Given the description of an element on the screen output the (x, y) to click on. 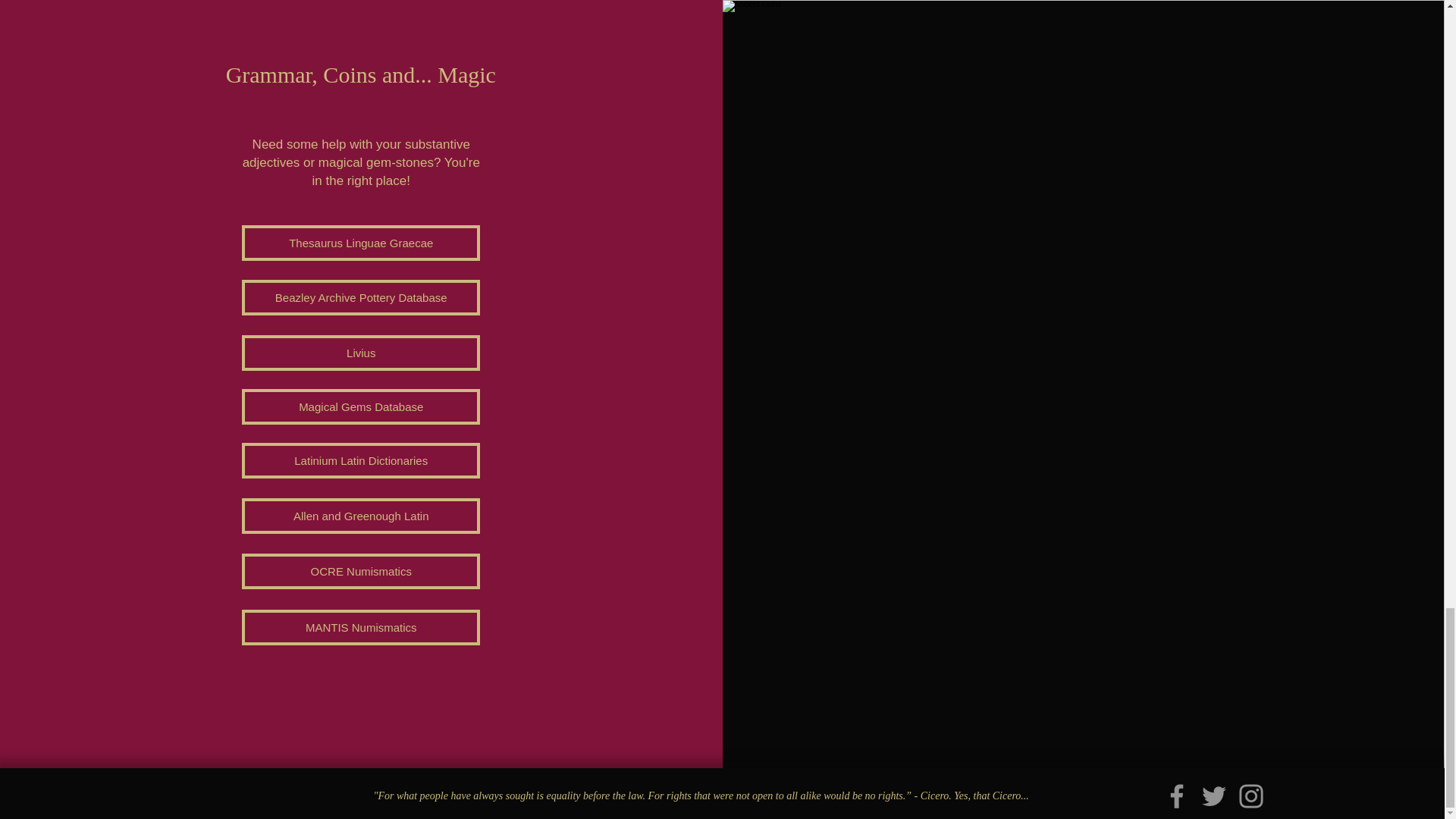
Livius (360, 352)
Beazley Archive Pottery Database (360, 297)
Latinium Latin Dictionaries (360, 460)
Magical Gems Database (360, 407)
MANTIS Numismatics (360, 627)
OCRE Numismatics (360, 570)
Thesaurus Linguae Graecae (360, 243)
Allen and Greenough Latin (360, 515)
